Given the description of an element on the screen output the (x, y) to click on. 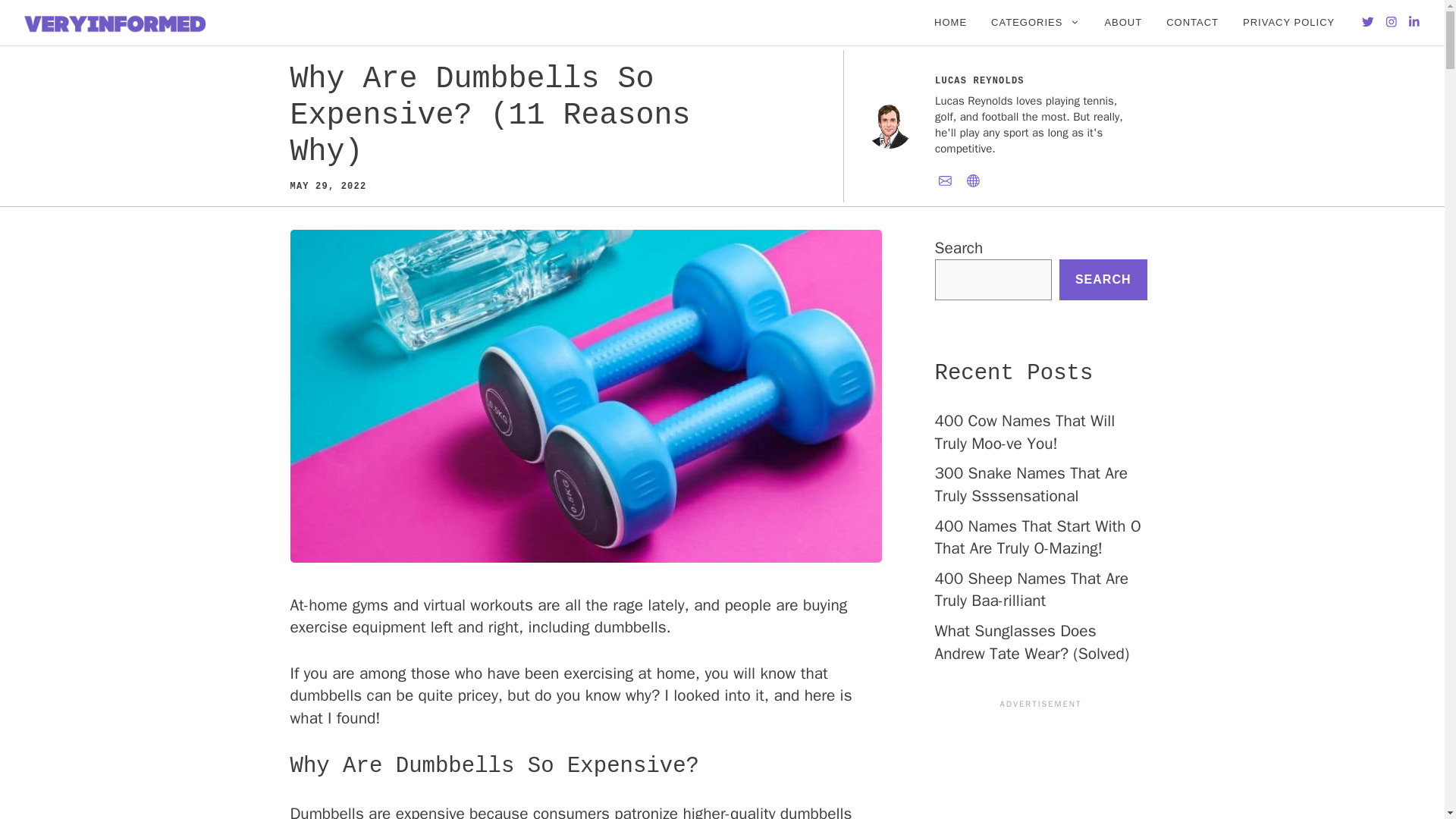
CATEGORIES (1035, 22)
PRIVACY POLICY (1288, 22)
ABOUT (1123, 22)
HOME (949, 22)
CONTACT (1192, 22)
